Given the description of an element on the screen output the (x, y) to click on. 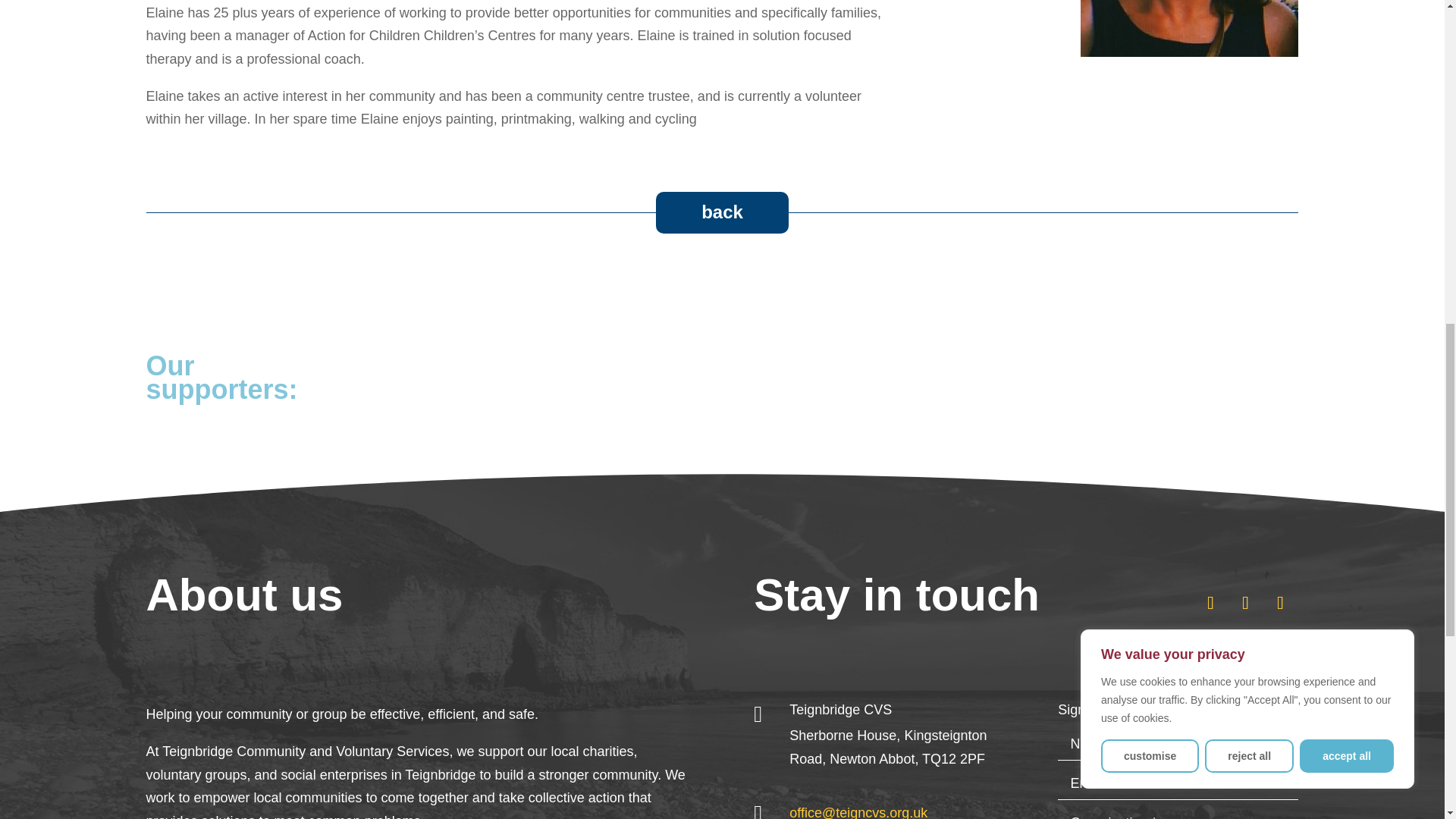
Follow on X (1210, 602)
Elaine Musgrave (1189, 28)
Follow on Instagram (1280, 602)
Follow on Facebook (1245, 602)
